Given the description of an element on the screen output the (x, y) to click on. 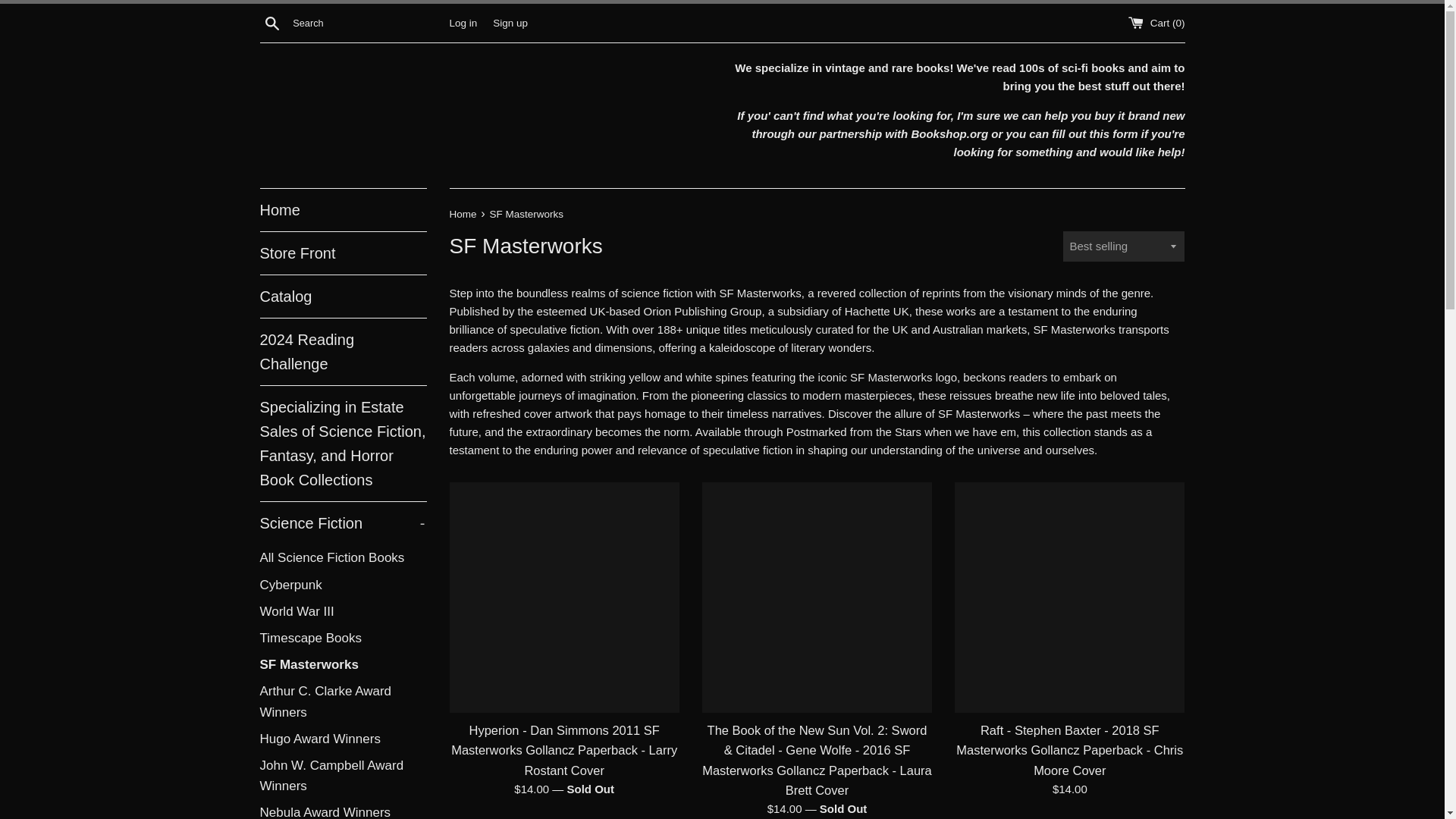
Back to the frontpage (463, 214)
this form (1113, 133)
Log in (462, 21)
Timescape Books (342, 637)
Store Front (342, 252)
John W. Campbell Award Winners (342, 775)
Home (342, 209)
Arthur C. Clarke Award Winners (342, 701)
